Given the description of an element on the screen output the (x, y) to click on. 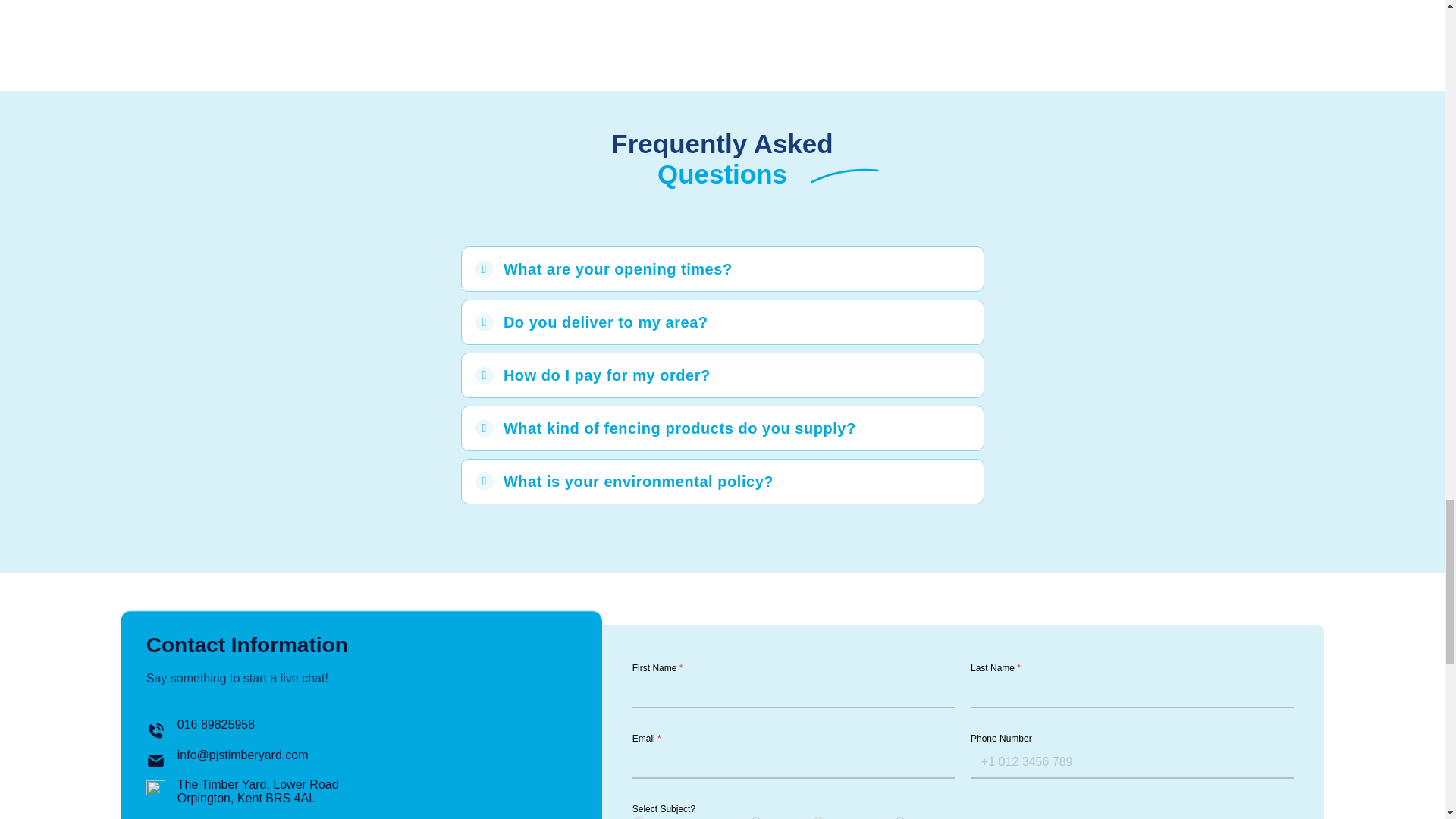
How do I pay for my order? (721, 374)
What is your environmental policy? (721, 481)
What kind of fencing products do you supply? (721, 428)
Do you deliver to my area? (721, 321)
What are your opening times? (721, 269)
